Given the description of an element on the screen output the (x, y) to click on. 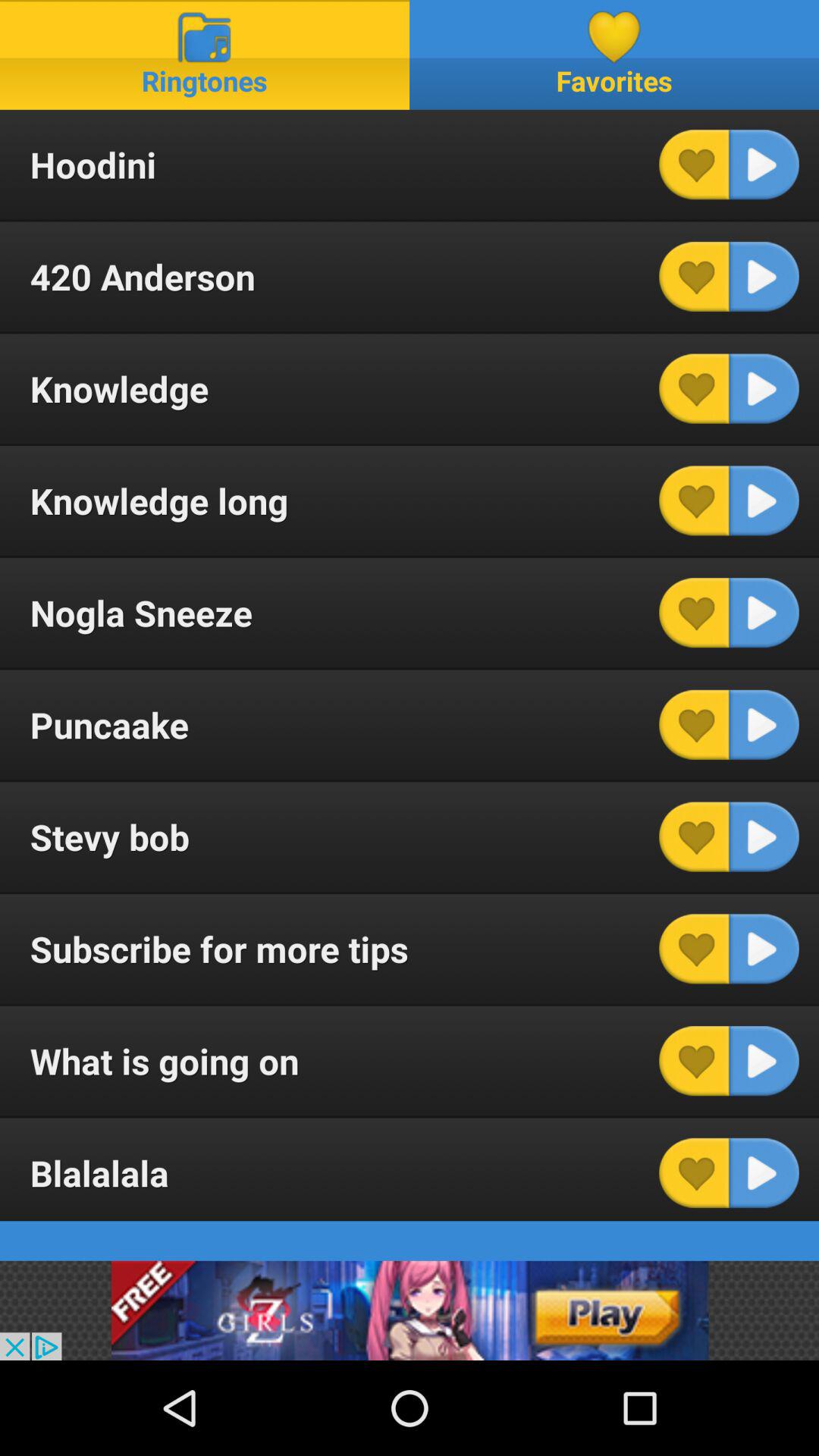
play this track (764, 388)
